Given the description of an element on the screen output the (x, y) to click on. 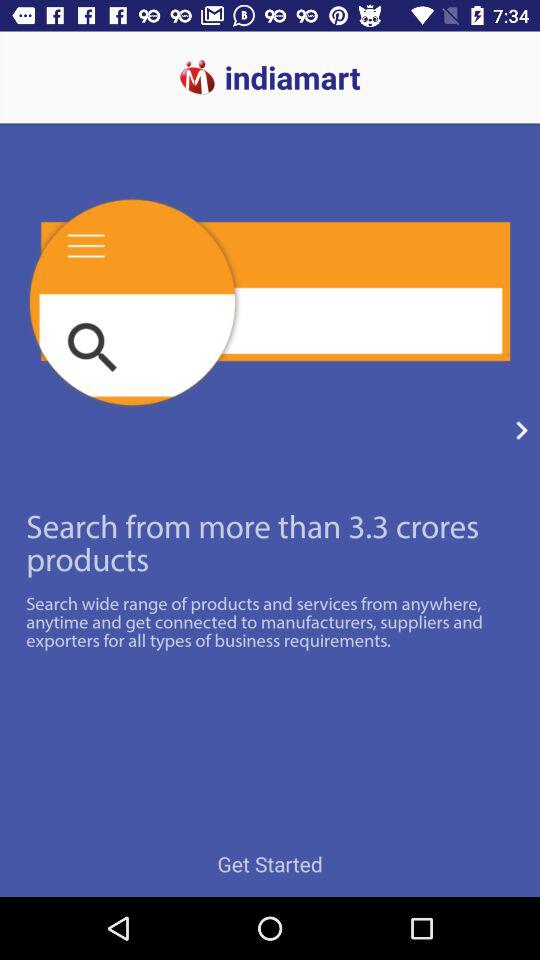
next option (521, 430)
